Given the description of an element on the screen output the (x, y) to click on. 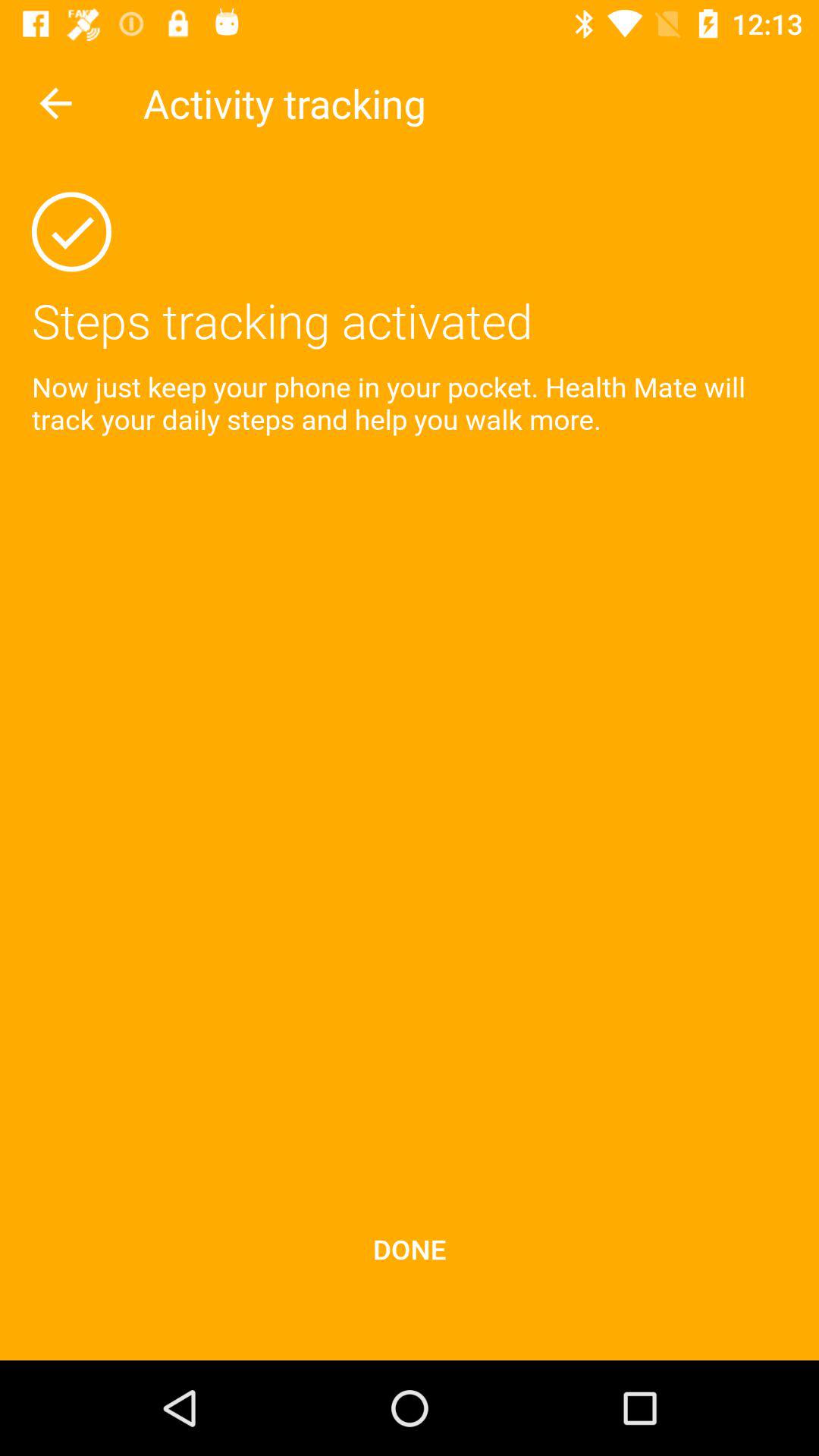
turn on done (409, 1248)
